Given the description of an element on the screen output the (x, y) to click on. 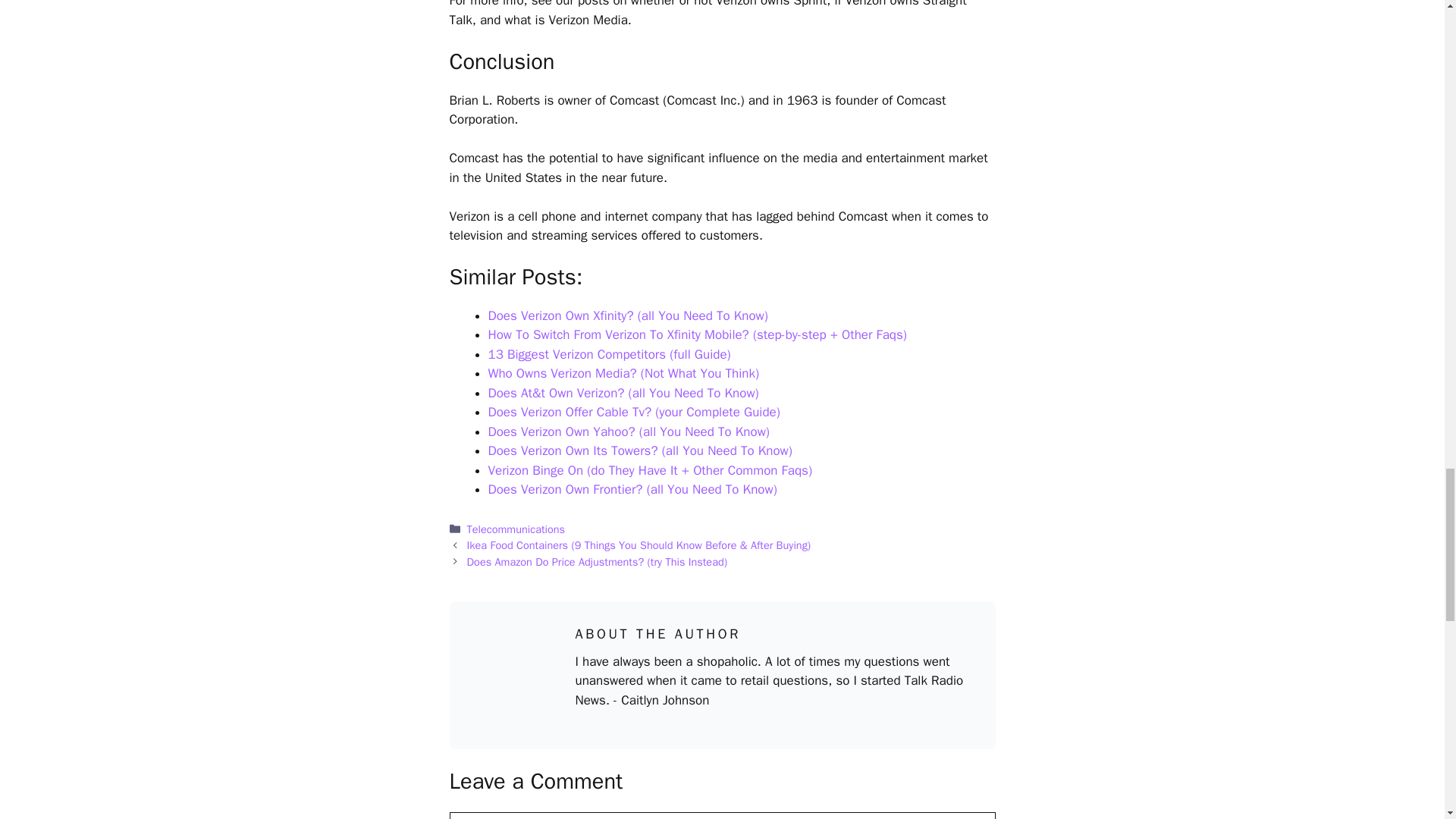
Next (596, 561)
Telecommunications (515, 529)
Previous (638, 545)
